Given the description of an element on the screen output the (x, y) to click on. 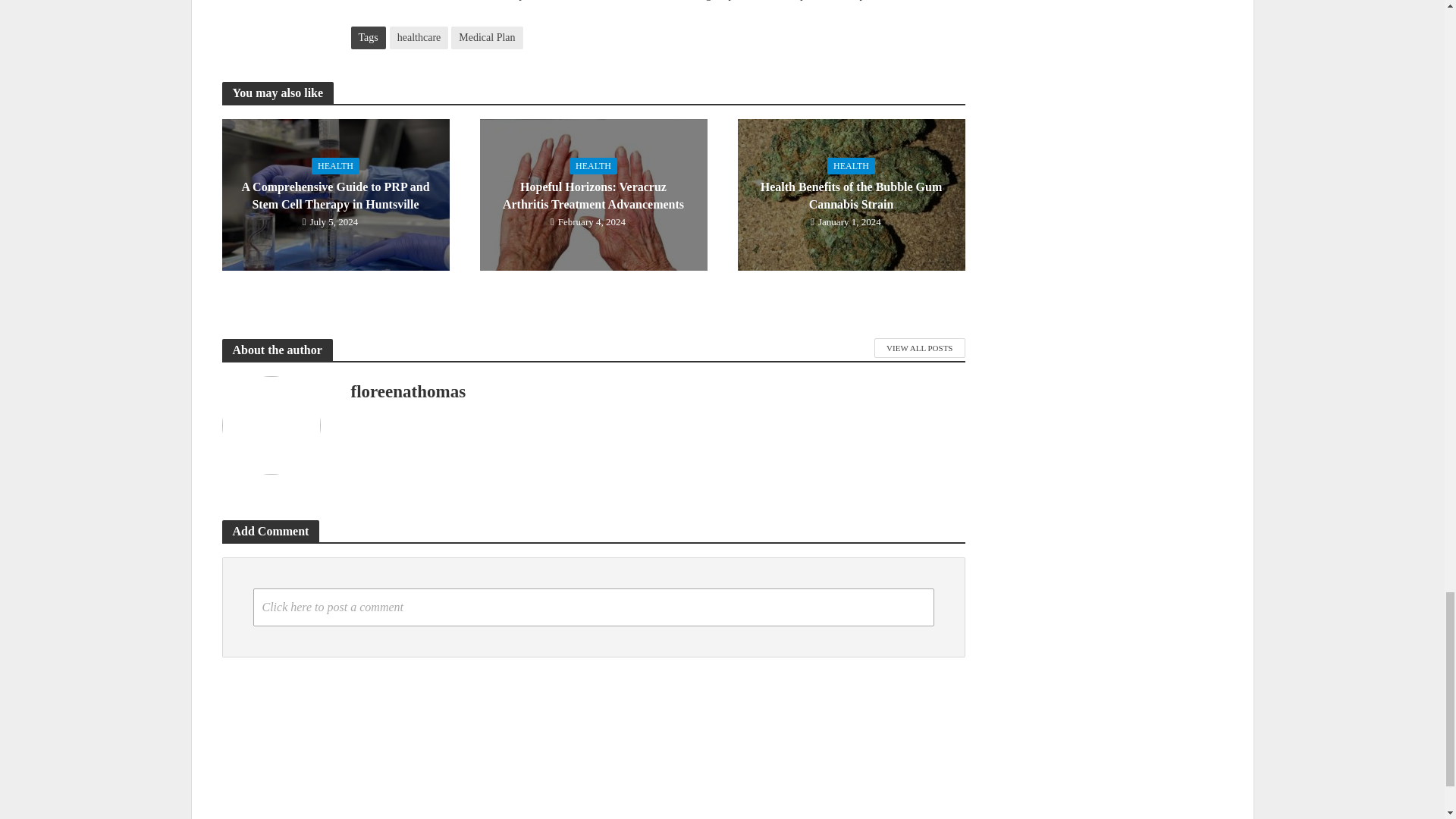
Health Benefits of the Bubble Gum Cannabis Strain (849, 192)
Hopeful Horizons: Veracruz Arthritis Treatment Advancements (592, 192)
